Given the description of an element on the screen output the (x, y) to click on. 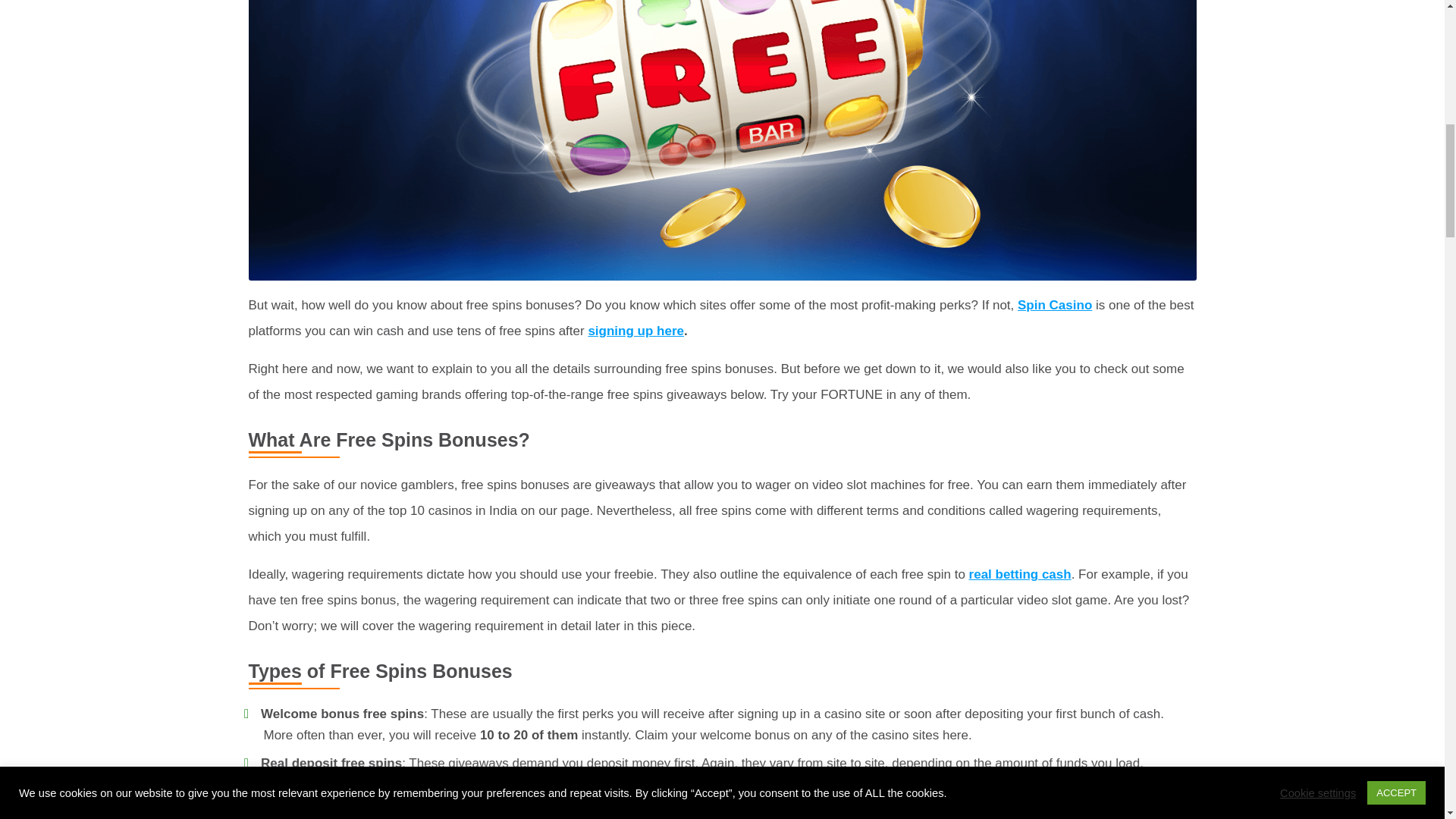
real betting cash (1020, 574)
